Given the description of an element on the screen output the (x, y) to click on. 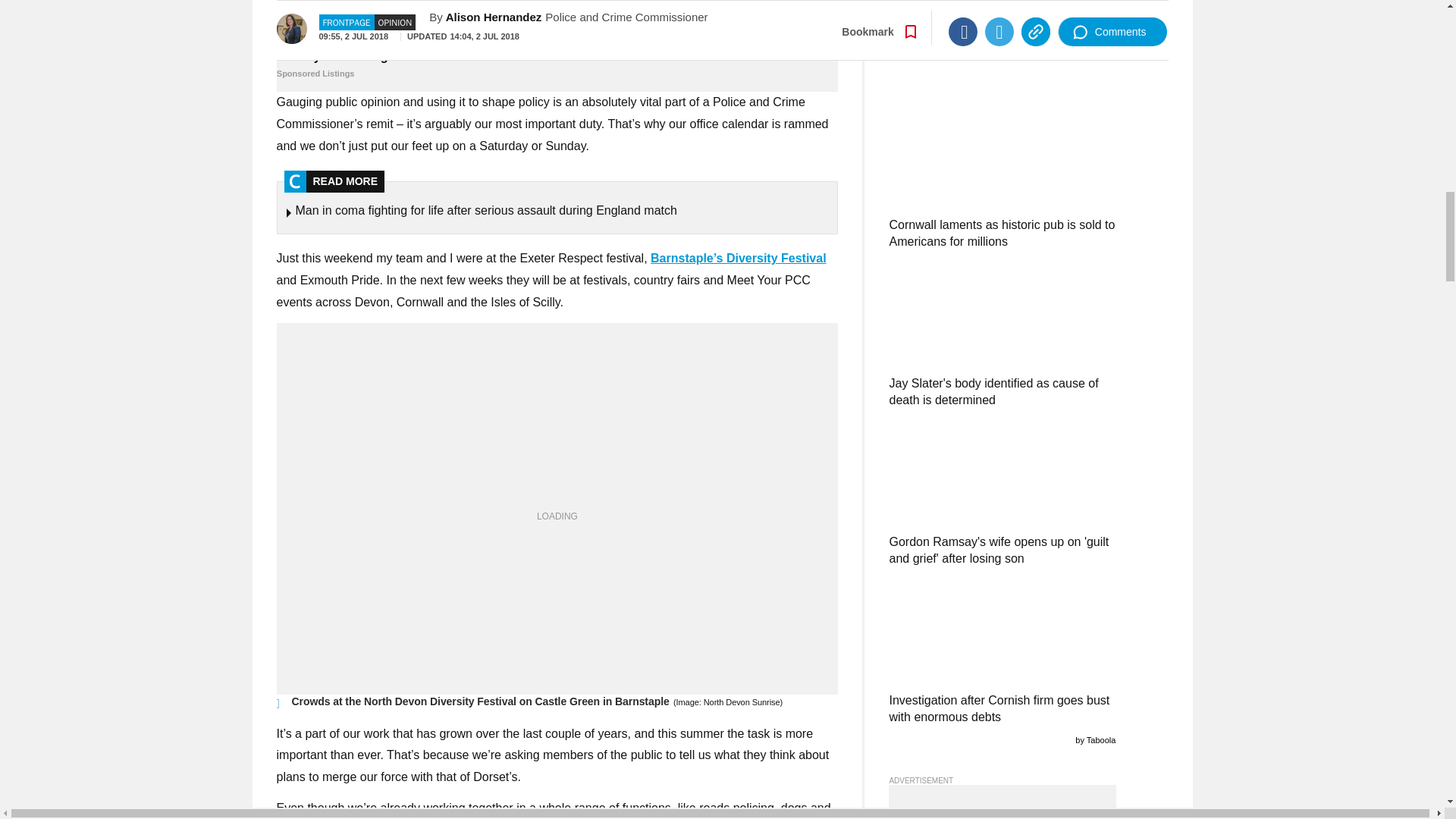
Fertility Clinics Might Be Better Than You Think (557, 64)
Fertility Clinics Might Be Better Than You Think (557, 22)
